Given the description of an element on the screen output the (x, y) to click on. 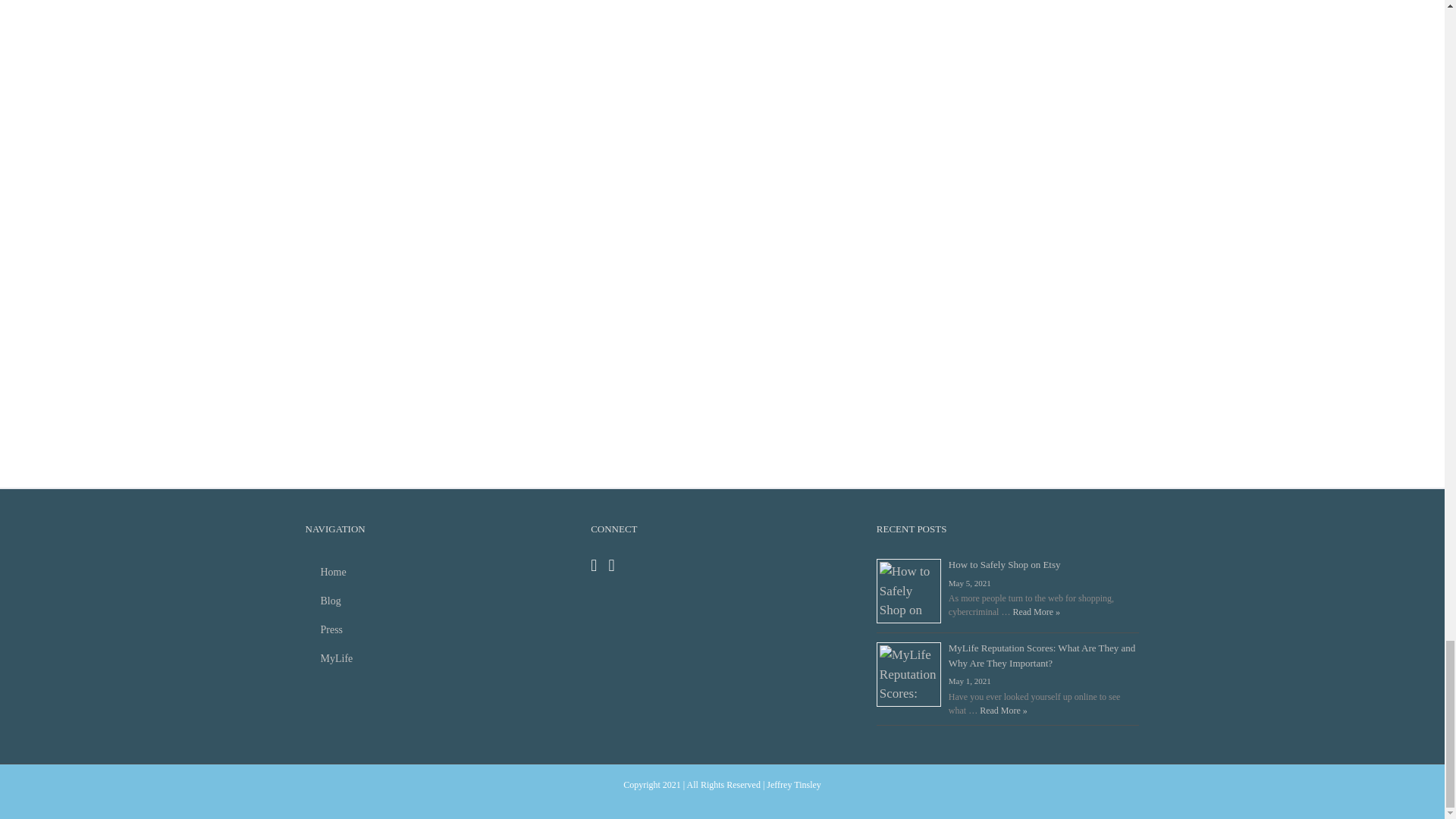
Press (435, 629)
Blog (435, 601)
Home (435, 572)
Permalink to How to Safely Shop on Etsy (1005, 564)
